Given the description of an element on the screen output the (x, y) to click on. 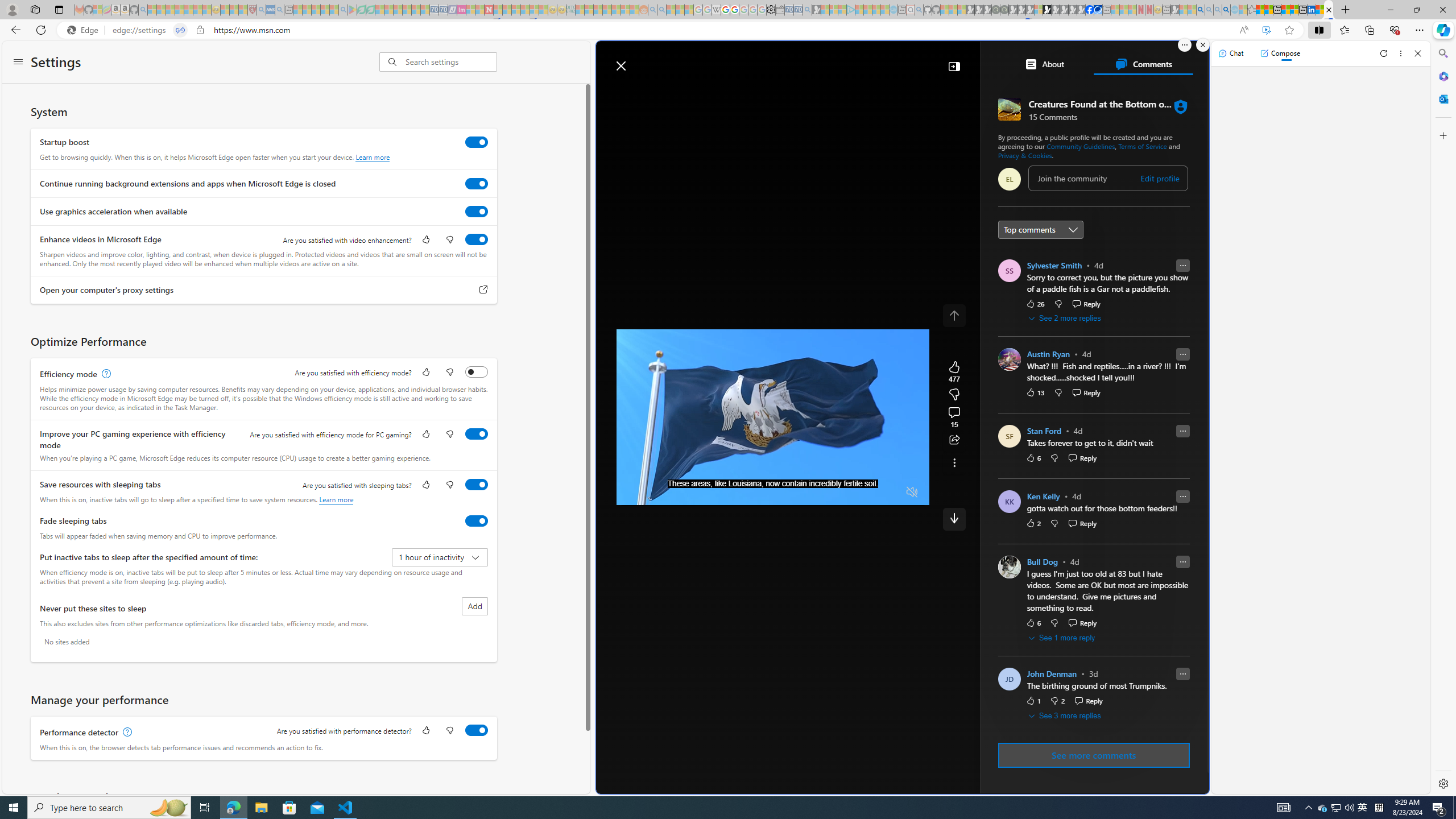
Watch (769, 92)
The Weather Channel - MSN - Sleeping (170, 9)
Pause (633, 492)
Unmute (912, 492)
Fade sleeping tabs (476, 520)
Future Focus Report 2024 - Sleeping (1004, 9)
google - Search - Sleeping (342, 9)
Microsoft Start Gaming - Sleeping (815, 9)
